Given the description of an element on the screen output the (x, y) to click on. 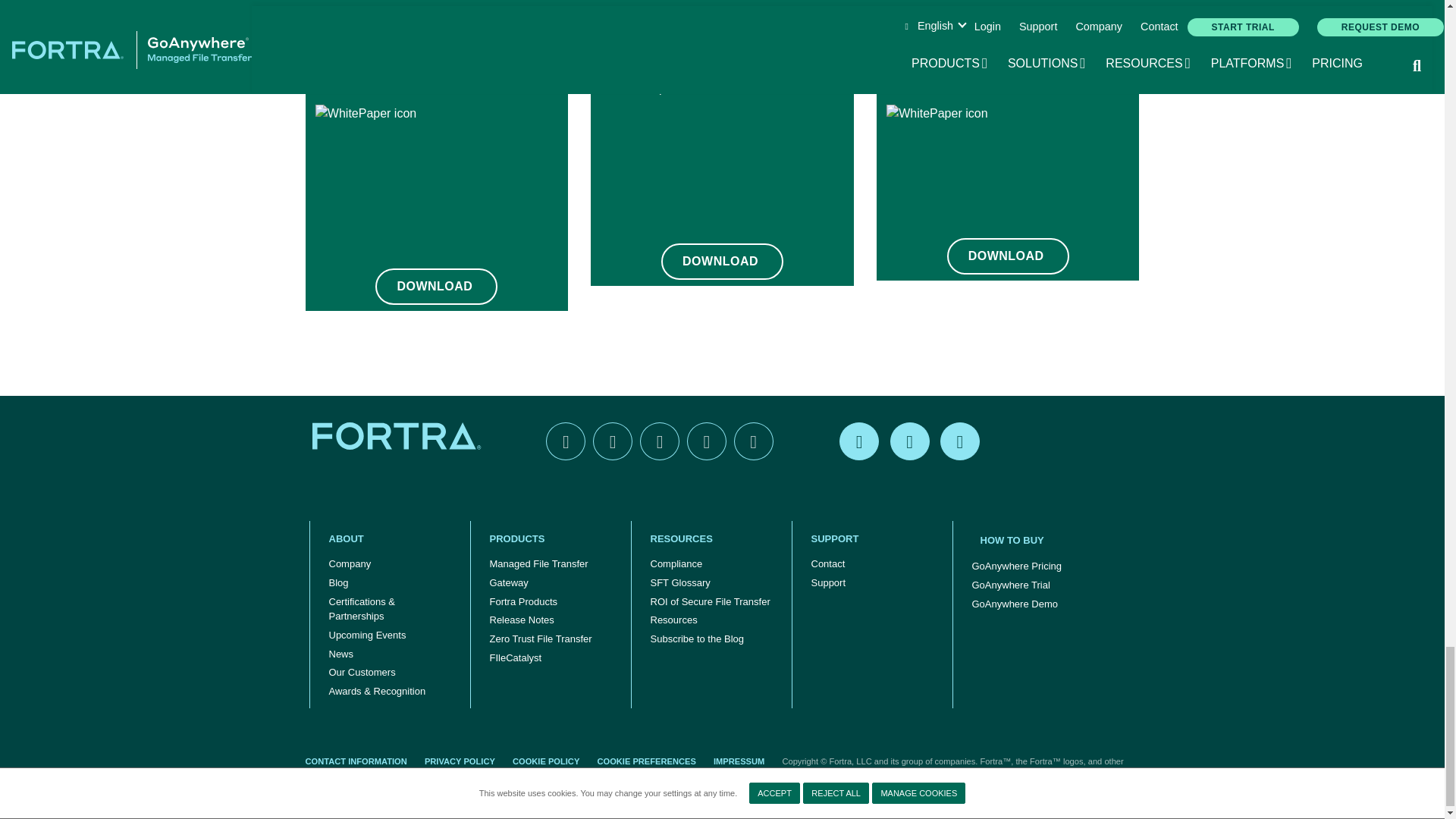
Home (398, 435)
Certifications and partnerships (389, 608)
About GoAnywhere by HelpSystems (389, 539)
